Given the description of an element on the screen output the (x, y) to click on. 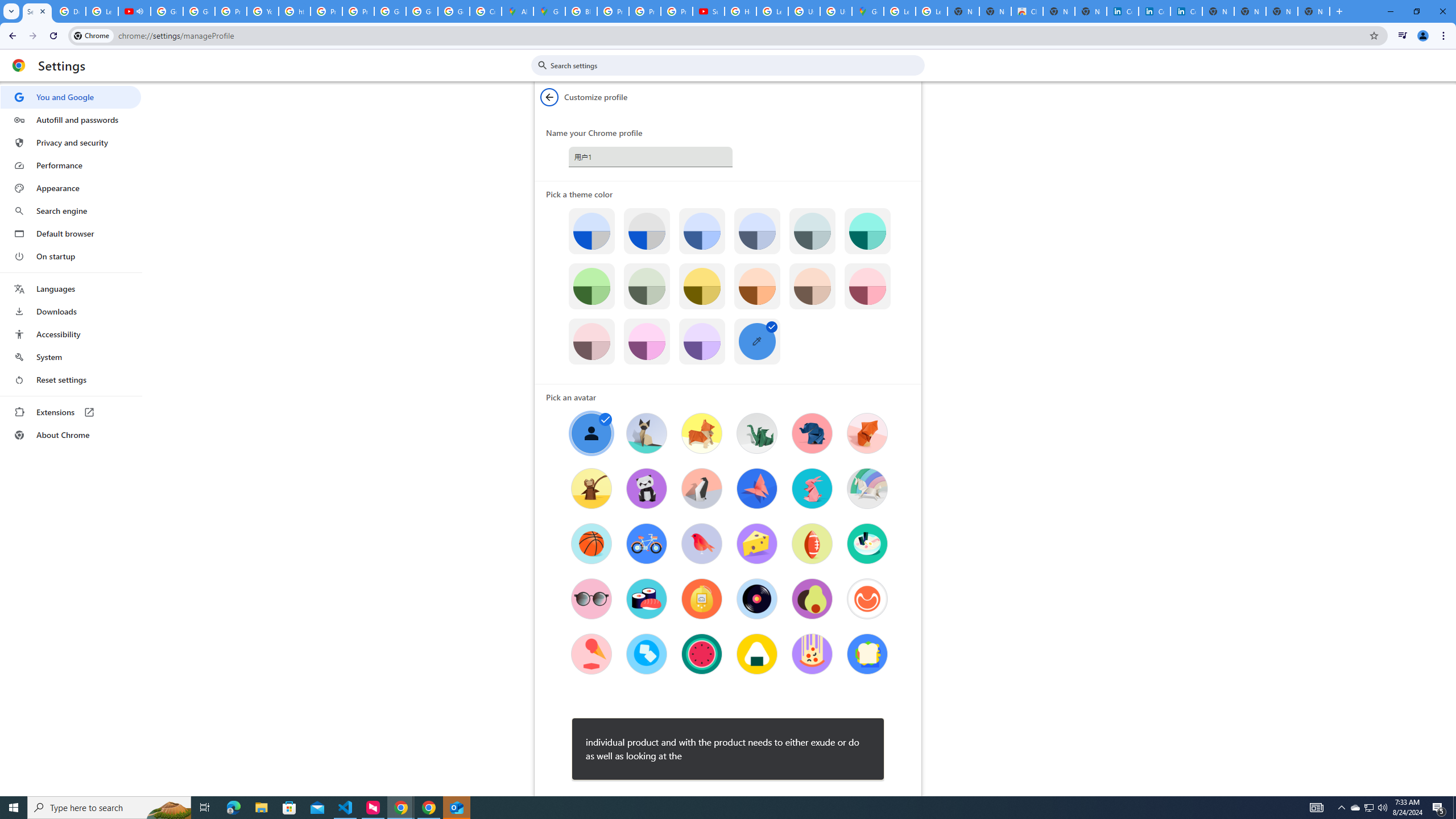
Cookie Policy | LinkedIn (1123, 11)
Privacy Help Center - Policies Help (326, 11)
Copyright Policy (1185, 11)
Google Account Help (166, 11)
Extensions (70, 412)
Create your Google Account (485, 11)
Appearance (70, 187)
https://scholar.google.com/ (294, 11)
